Given the description of an element on the screen output the (x, y) to click on. 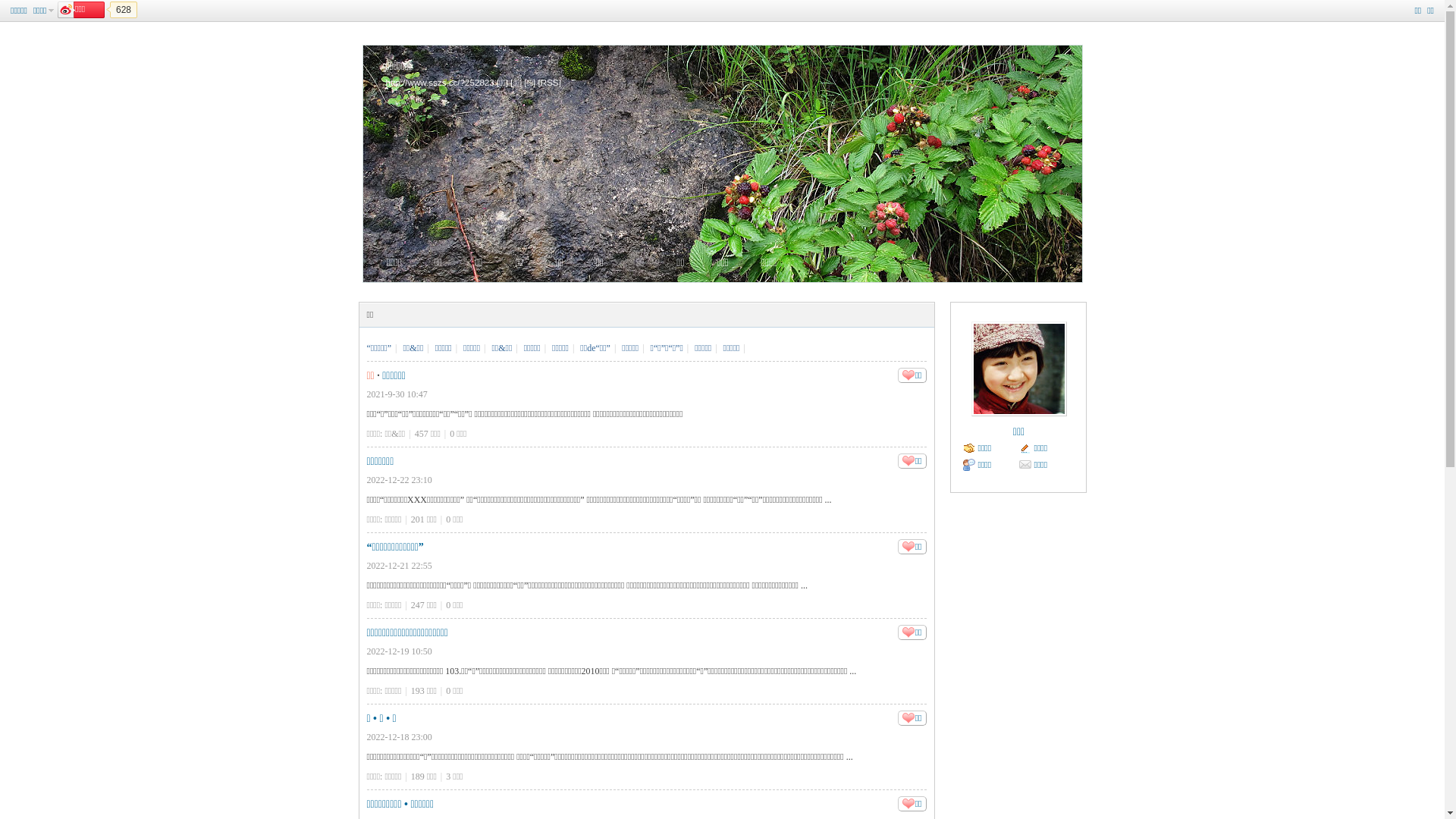
[RSS] Element type: text (549, 82)
http://www.sszs.cc/?252823 Element type: text (439, 82)
